Given the description of an element on the screen output the (x, y) to click on. 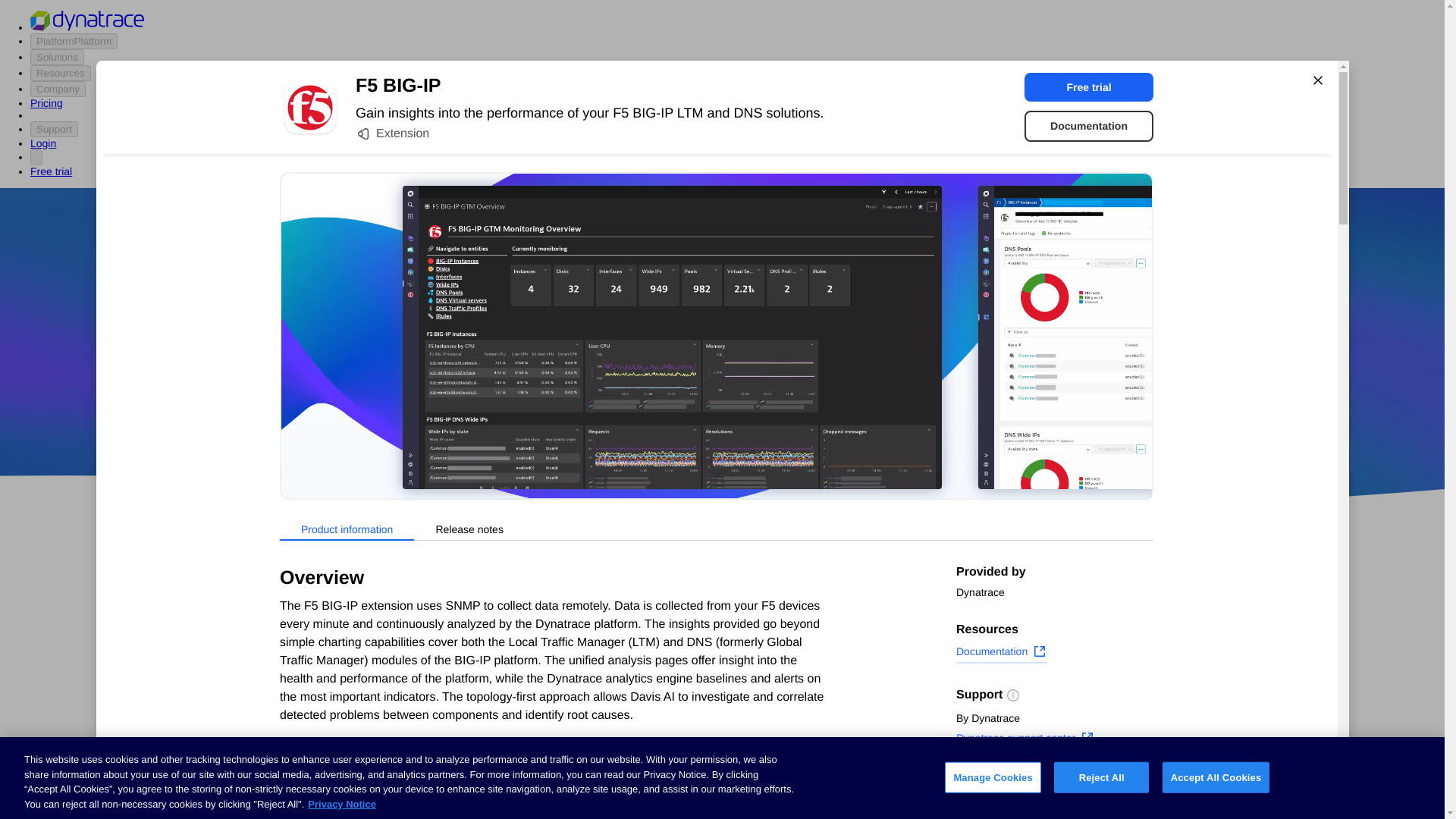
360performance (840, 375)
Copy page link (1003, 806)
DevOps (829, 418)
Advanced SSL Certificate Check for Dynatrace (606, 731)
 certificate ssl synthetic test (607, 793)
Azure (681, 418)
Documentation (1089, 125)
Open source (903, 418)
Free trial (1089, 86)
360performance (840, 375)
Documentation (1001, 653)
Google Cloud (751, 418)
Subscribe to new releases (1054, 782)
Dynatrace support center (1025, 740)
AWS (637, 418)
